Given the description of an element on the screen output the (x, y) to click on. 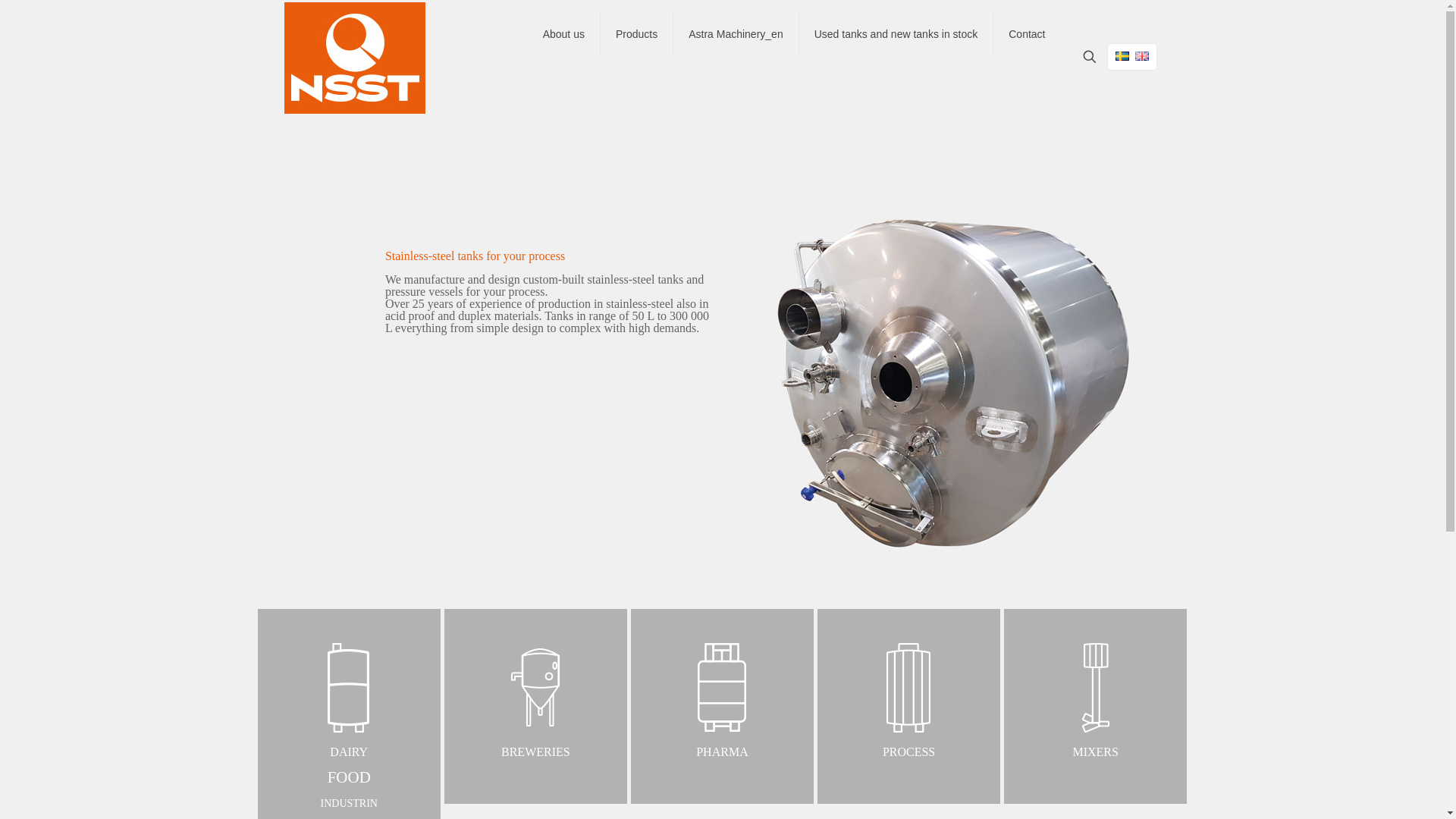
MIXERS (1094, 700)
PHARMA (722, 700)
PROCESS (908, 700)
NSST (354, 56)
About us (349, 713)
Used tanks and new tanks in stock (563, 33)
BREWERIES (896, 33)
Contact (535, 700)
Products (1025, 33)
